Given the description of an element on the screen output the (x, y) to click on. 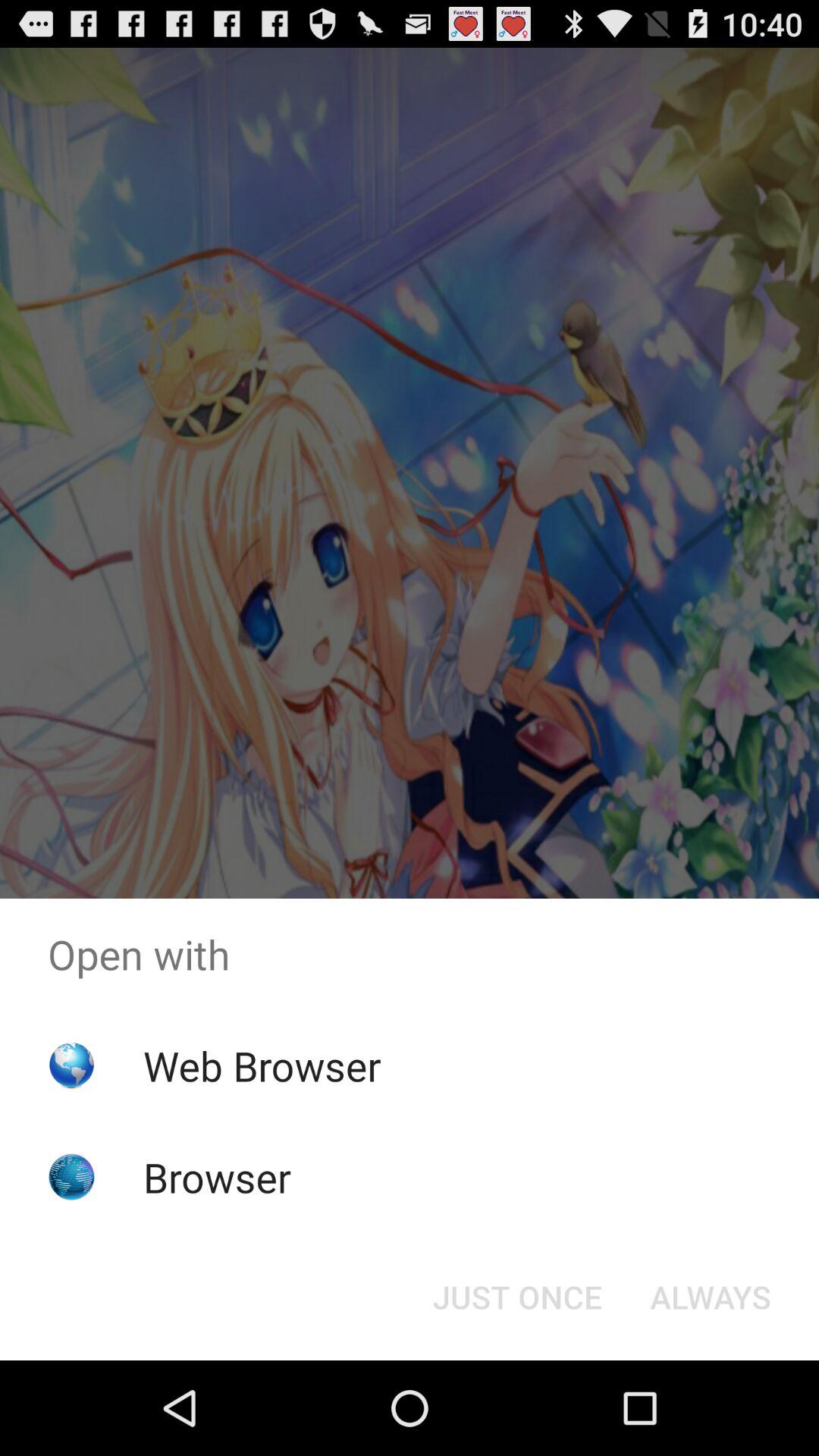
choose the always (710, 1296)
